Given the description of an element on the screen output the (x, y) to click on. 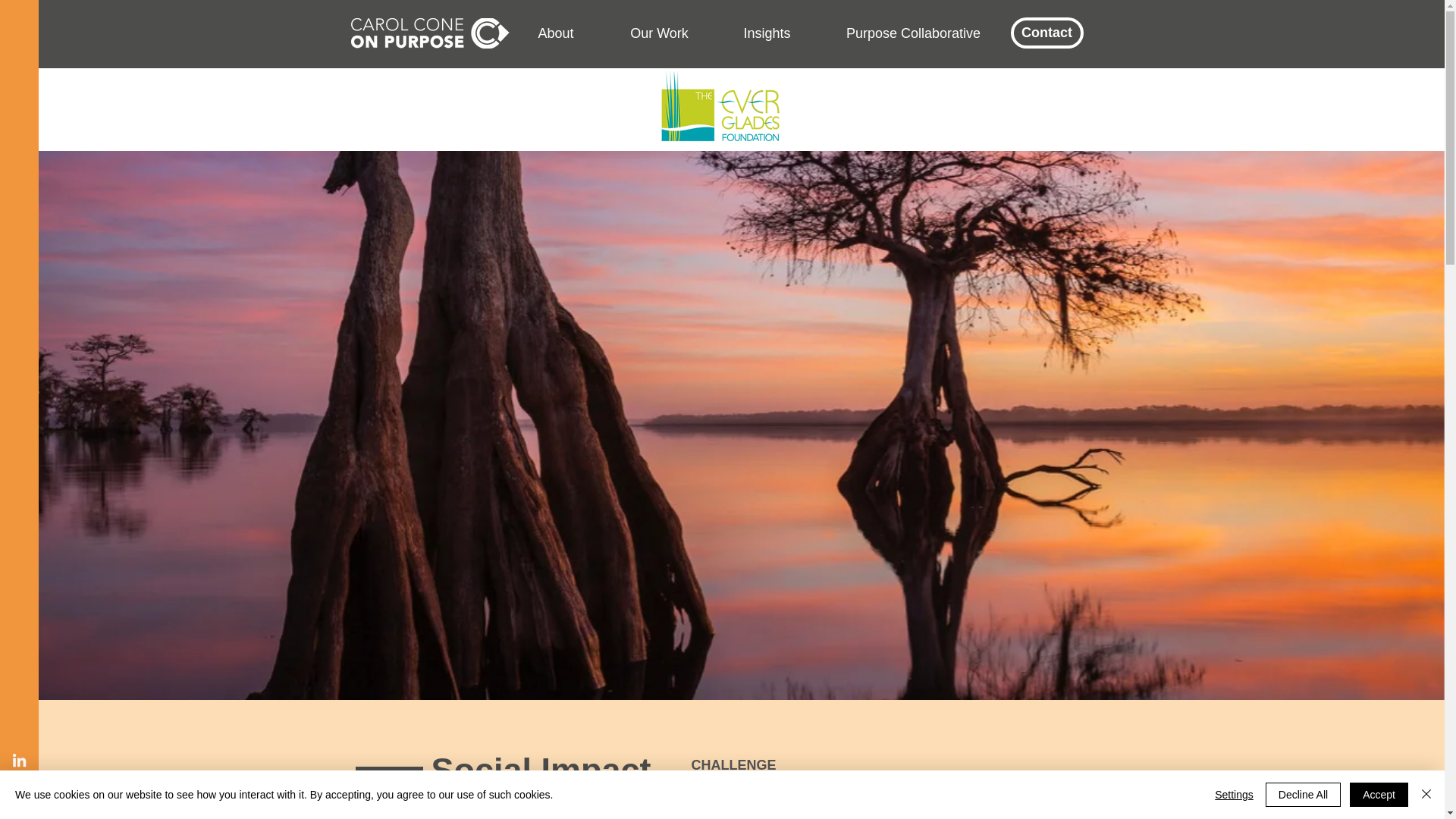
Accept (1378, 794)
Purpose Collaborative (913, 33)
Decline All (1302, 794)
Contact (1046, 32)
